Given the description of an element on the screen output the (x, y) to click on. 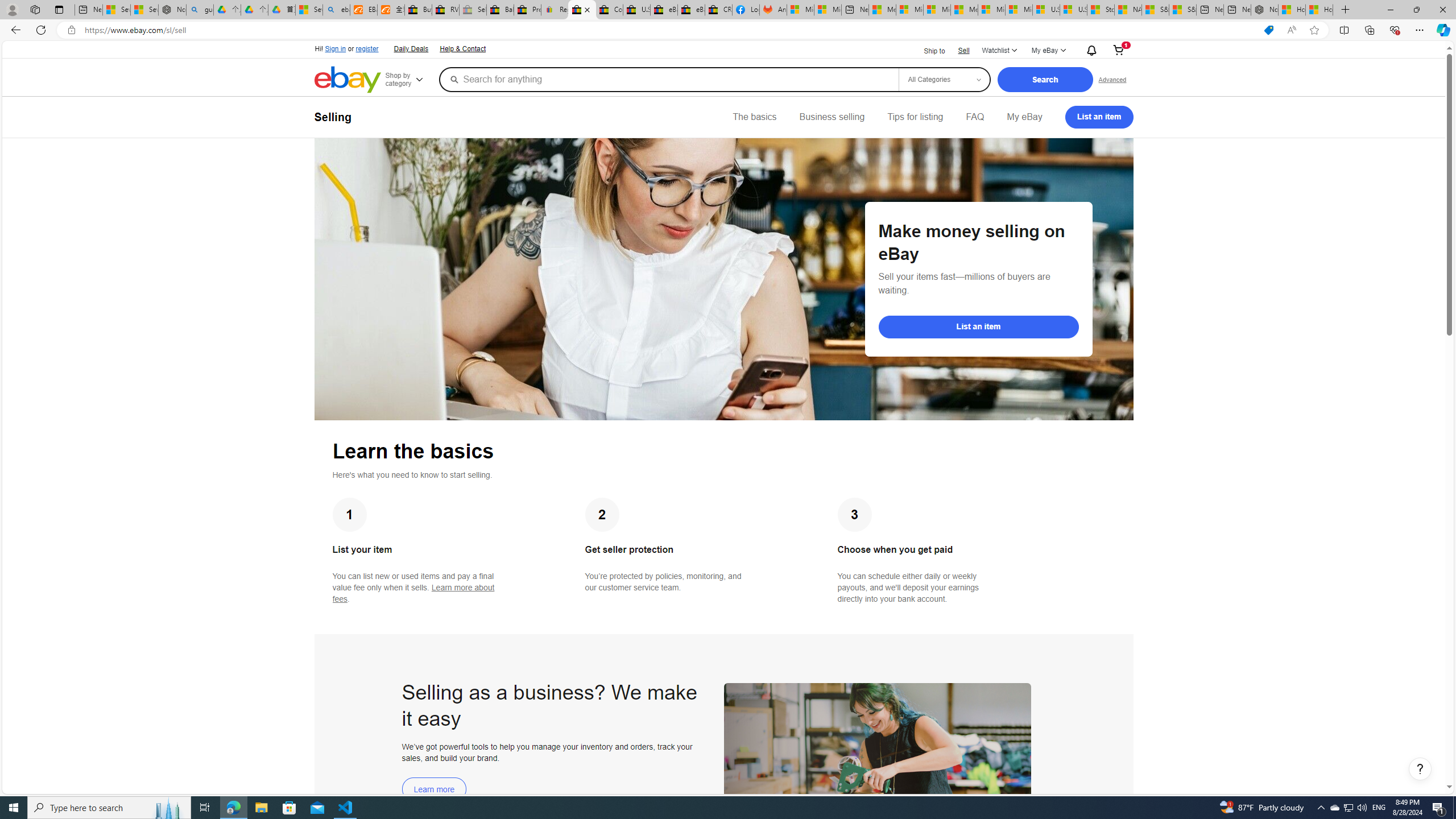
Advanced Search (1112, 78)
Daily Deals (410, 48)
Sell (963, 49)
Sell worldwide with eBay - Sleeping (473, 9)
Register: Create a personal eBay account (554, 9)
Sign in (335, 49)
